Given the description of an element on the screen output the (x, y) to click on. 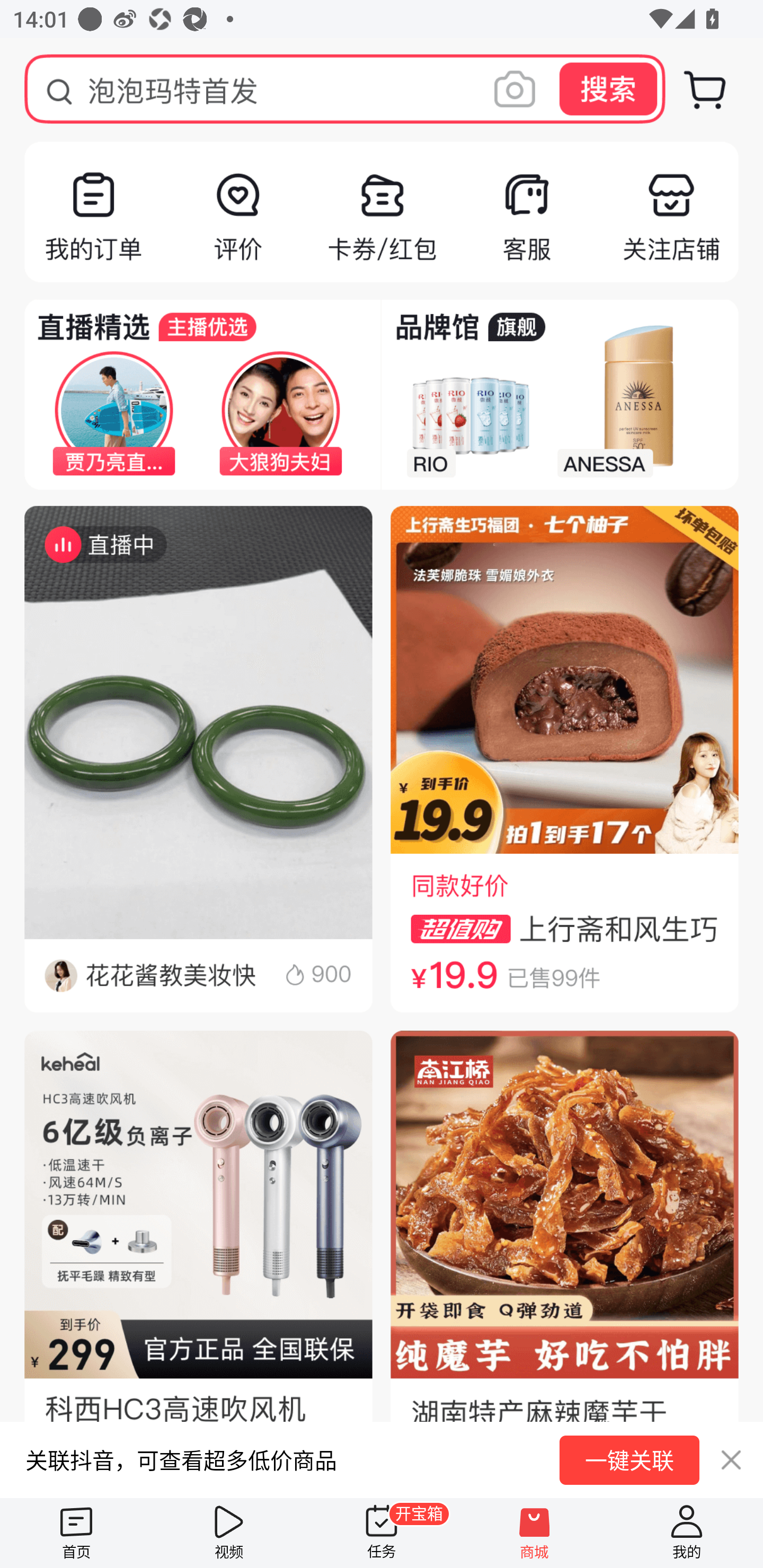
关联抖音，可查看超多低价商品 一键关联 (381, 1459)
一键关联 (629, 1460)
首页 (76, 1532)
视频 (228, 1532)
任务 开宝箱 (381, 1532)
商城 (533, 1532)
我的 (686, 1532)
